Given the description of an element on the screen output the (x, y) to click on. 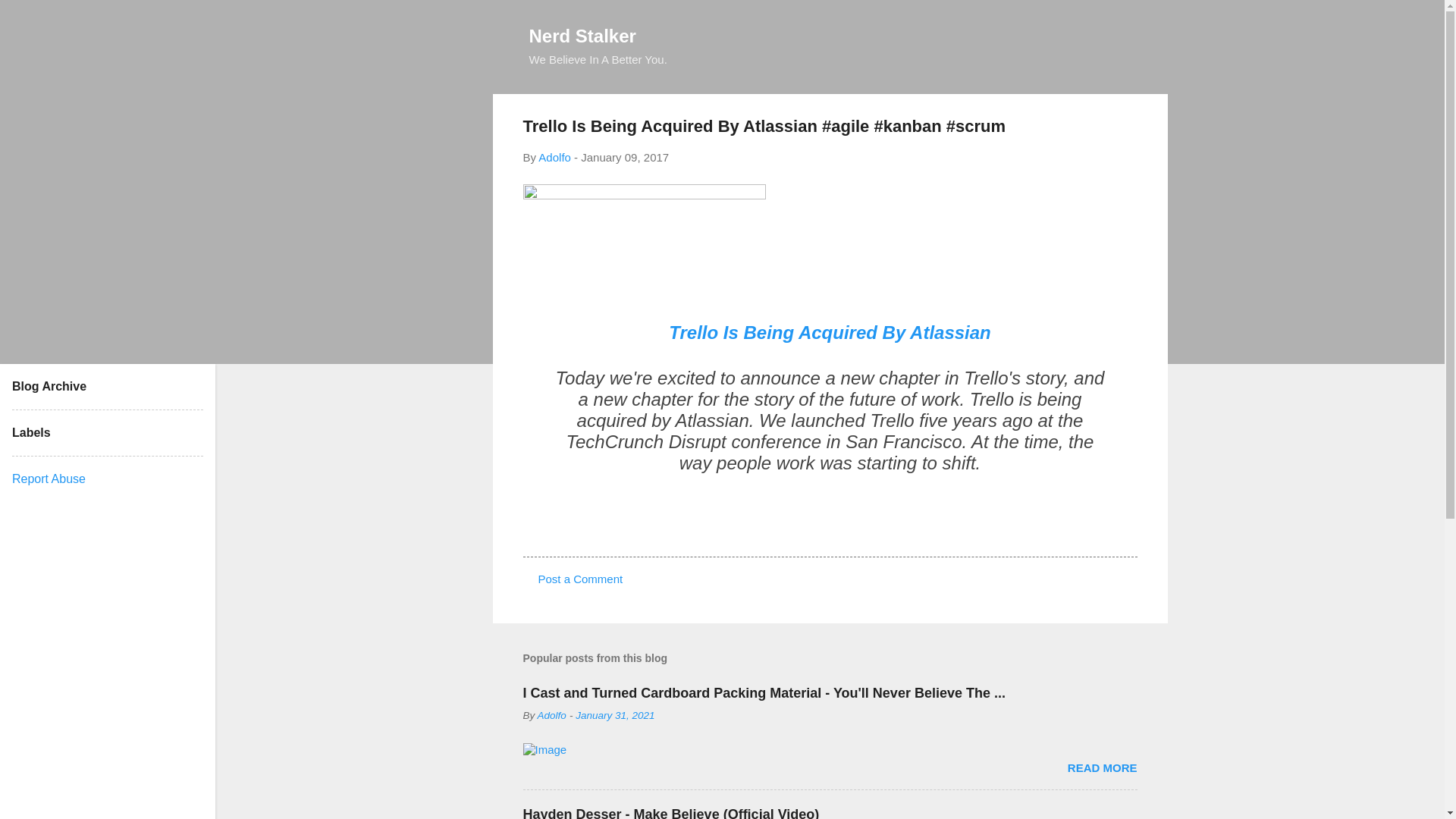
Post a Comment (580, 578)
January 09, 2017 (624, 156)
January 31, 2021 (614, 715)
Adolfo (551, 715)
permanent link (624, 156)
Adolfo (554, 156)
author profile (551, 715)
Trello Is Being Acquired By Atlassian (829, 332)
READ MORE (1102, 767)
Nerd Stalker (582, 35)
Search (29, 18)
author profile (554, 156)
